Given the description of an element on the screen output the (x, y) to click on. 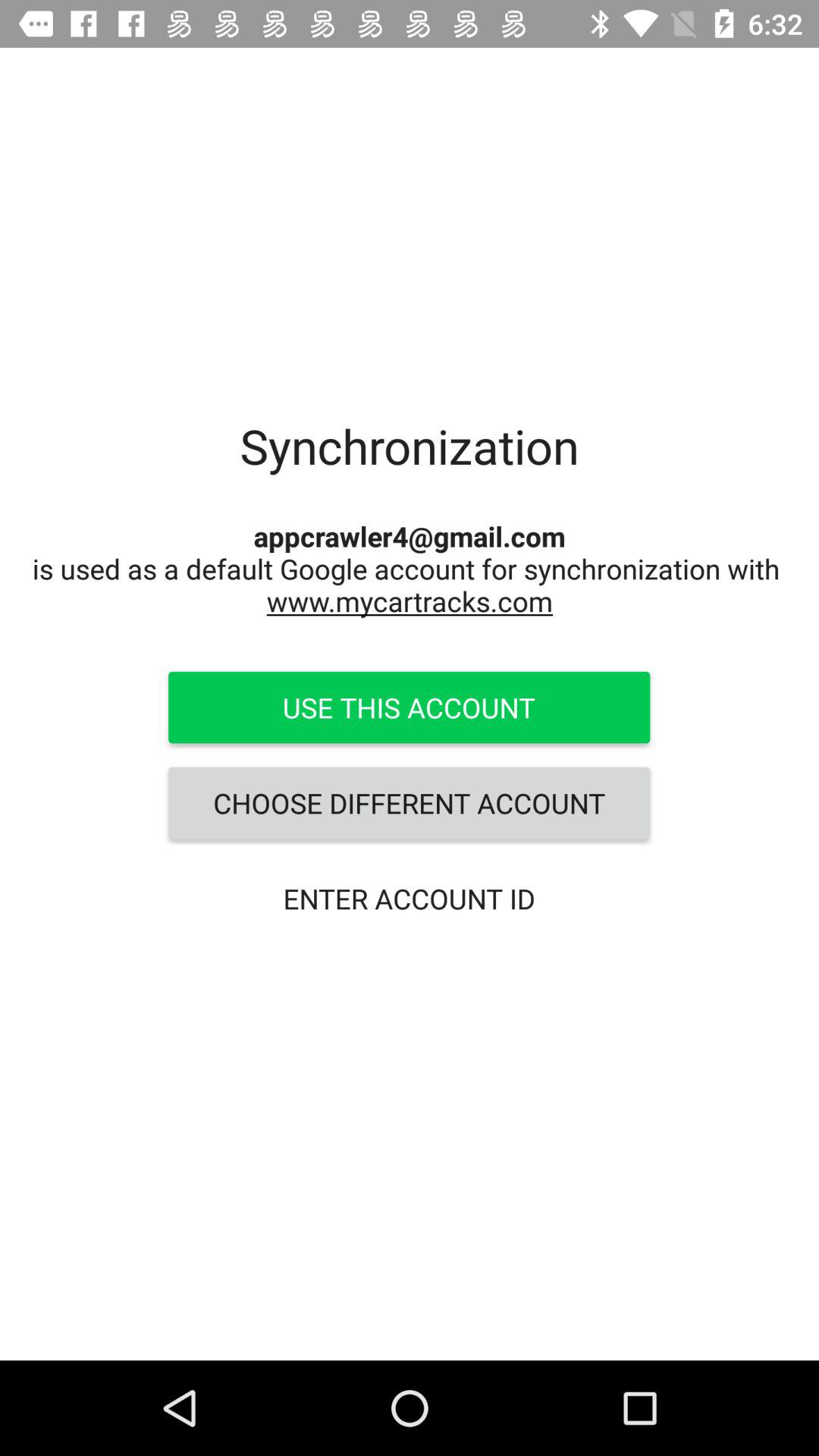
turn off the use this account item (409, 707)
